Given the description of an element on the screen output the (x, y) to click on. 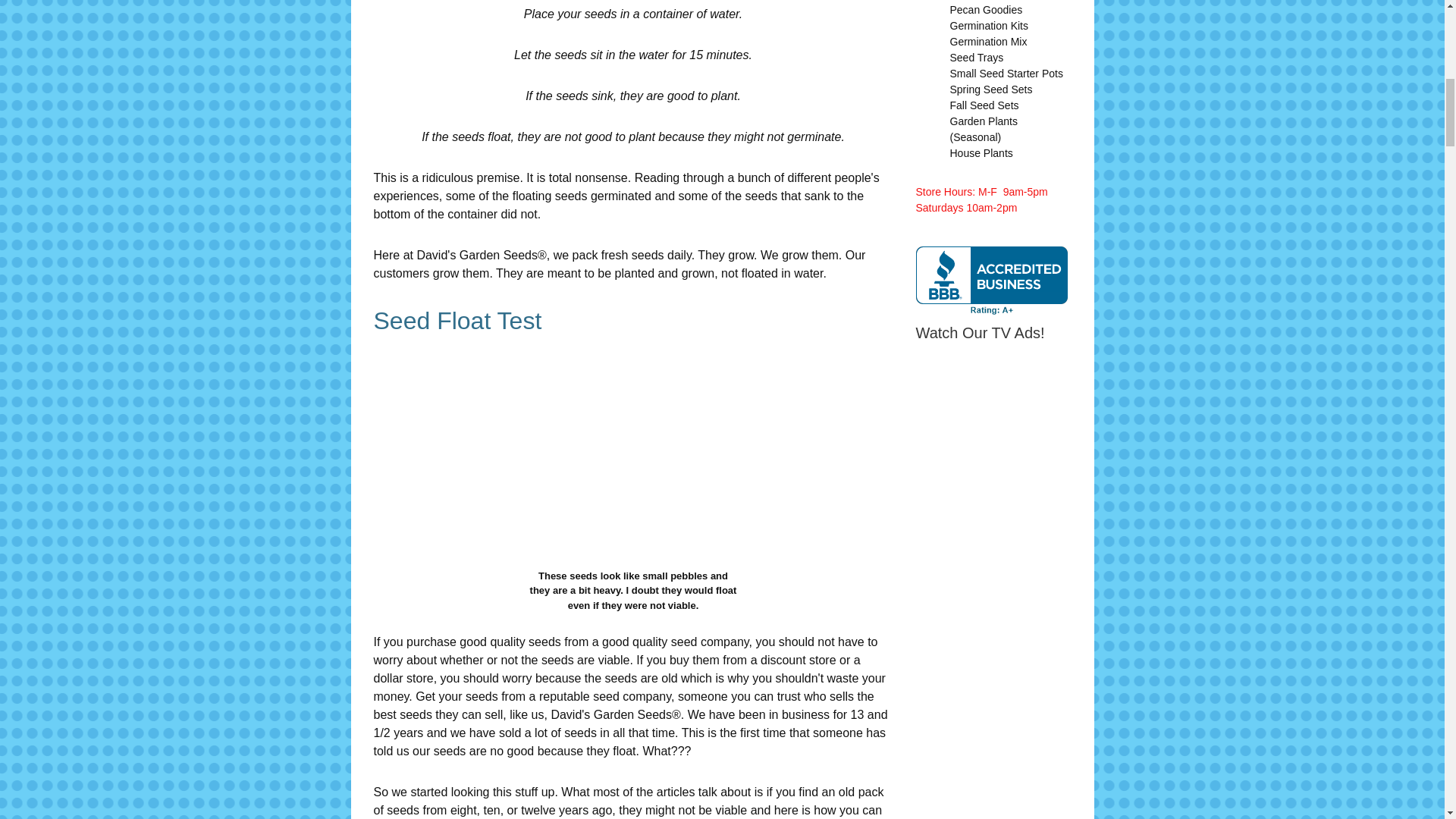
YouTube video player (1127, 471)
YouTube video player (1127, 707)
